Given the description of an element on the screen output the (x, y) to click on. 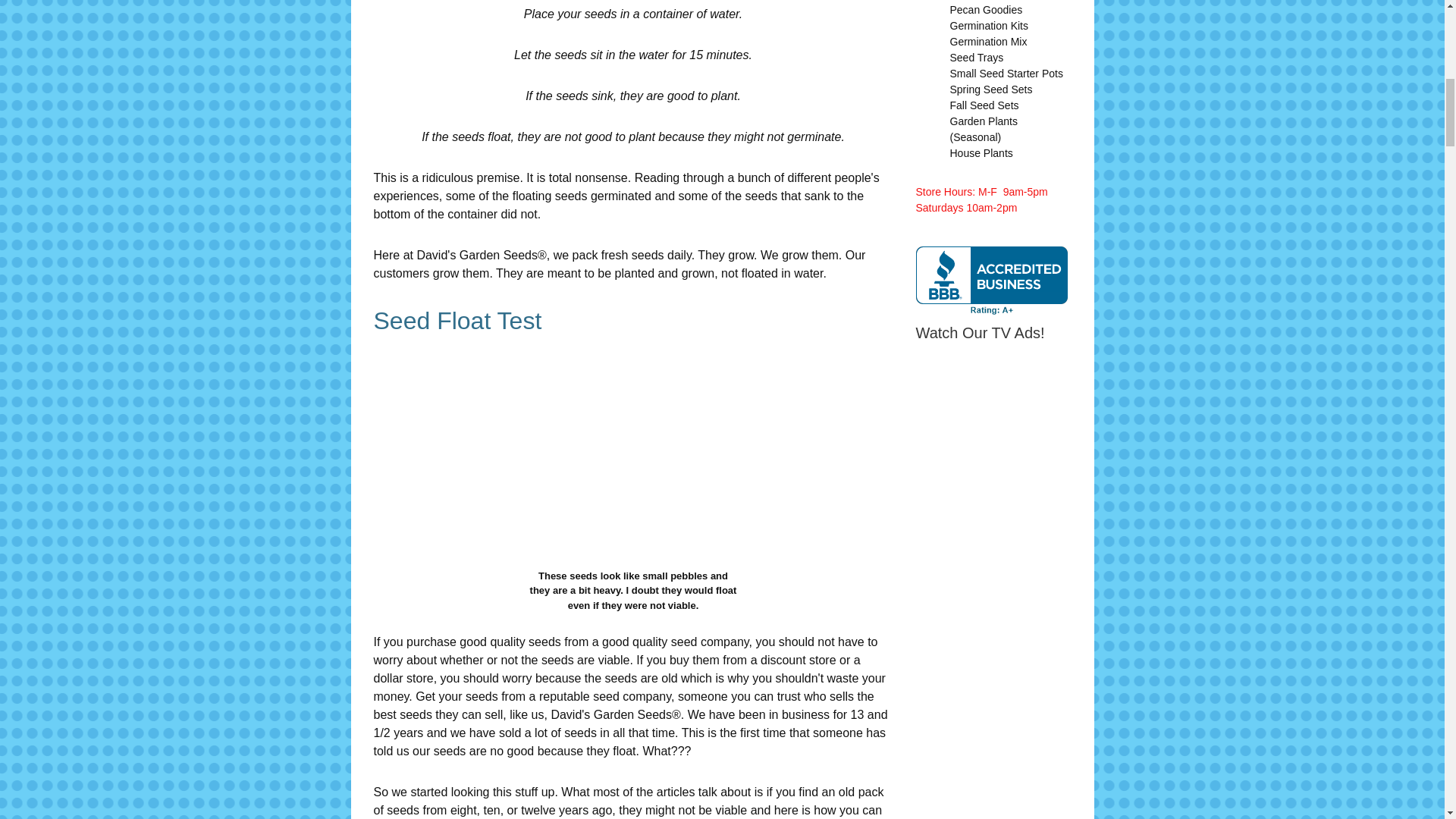
YouTube video player (1127, 471)
YouTube video player (1127, 707)
